Given the description of an element on the screen output the (x, y) to click on. 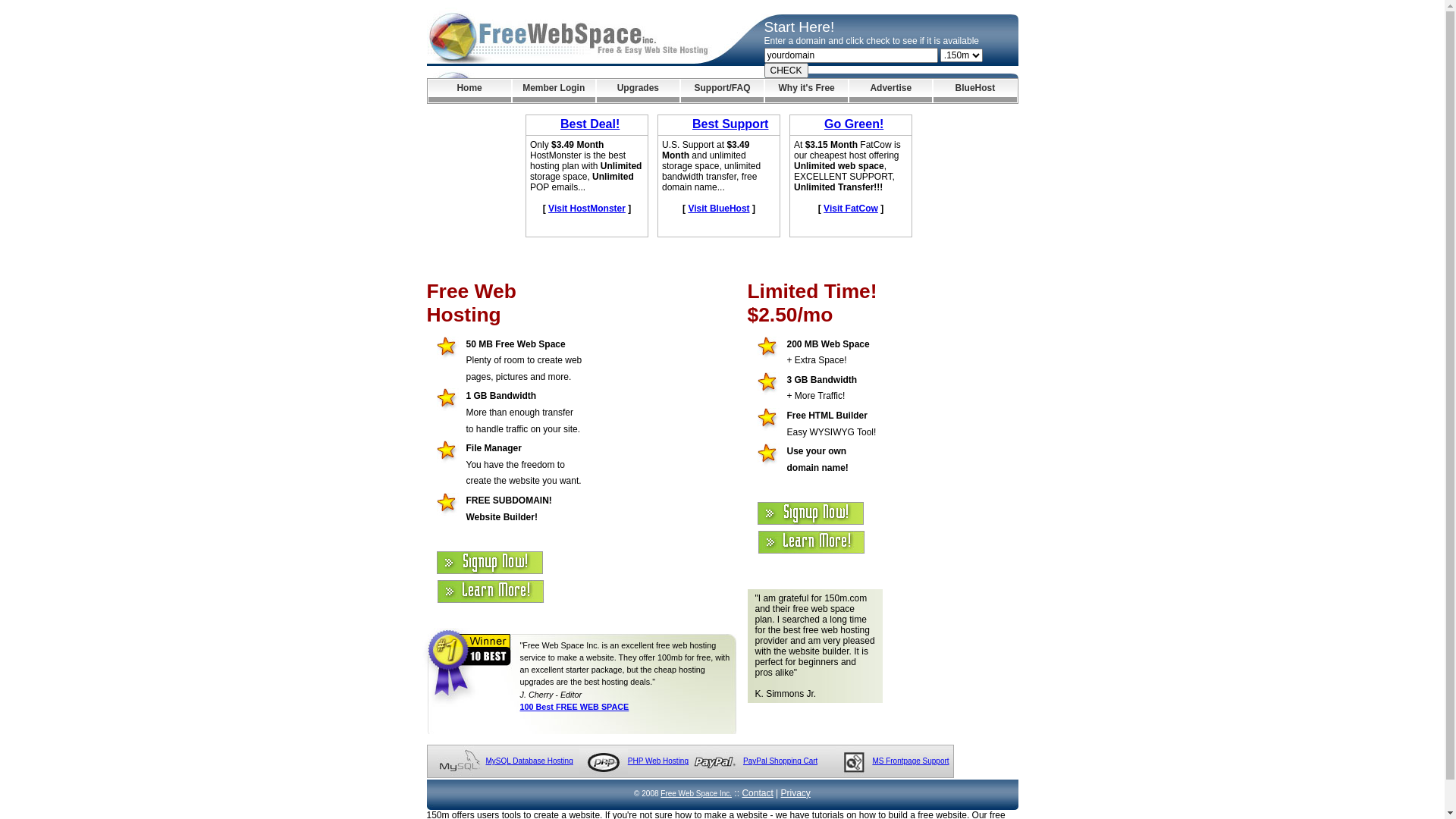
CHECK Element type: text (786, 70)
BlueHost Element type: text (974, 90)
Member Login Element type: text (553, 90)
Why it's Free Element type: text (806, 90)
MySQL Database Hosting Element type: text (528, 760)
PayPal Shopping Cart Element type: text (780, 760)
Advertise Element type: text (890, 90)
Contact Element type: text (756, 792)
Home Element type: text (468, 90)
100 Best FREE WEB SPACE Element type: text (574, 706)
PHP Web Hosting Element type: text (657, 760)
Free Web Space Inc. Element type: text (695, 793)
Privacy Element type: text (795, 792)
MS Frontpage Support Element type: text (910, 760)
Support/FAQ Element type: text (721, 90)
Upgrades Element type: text (637, 90)
